Given the description of an element on the screen output the (x, y) to click on. 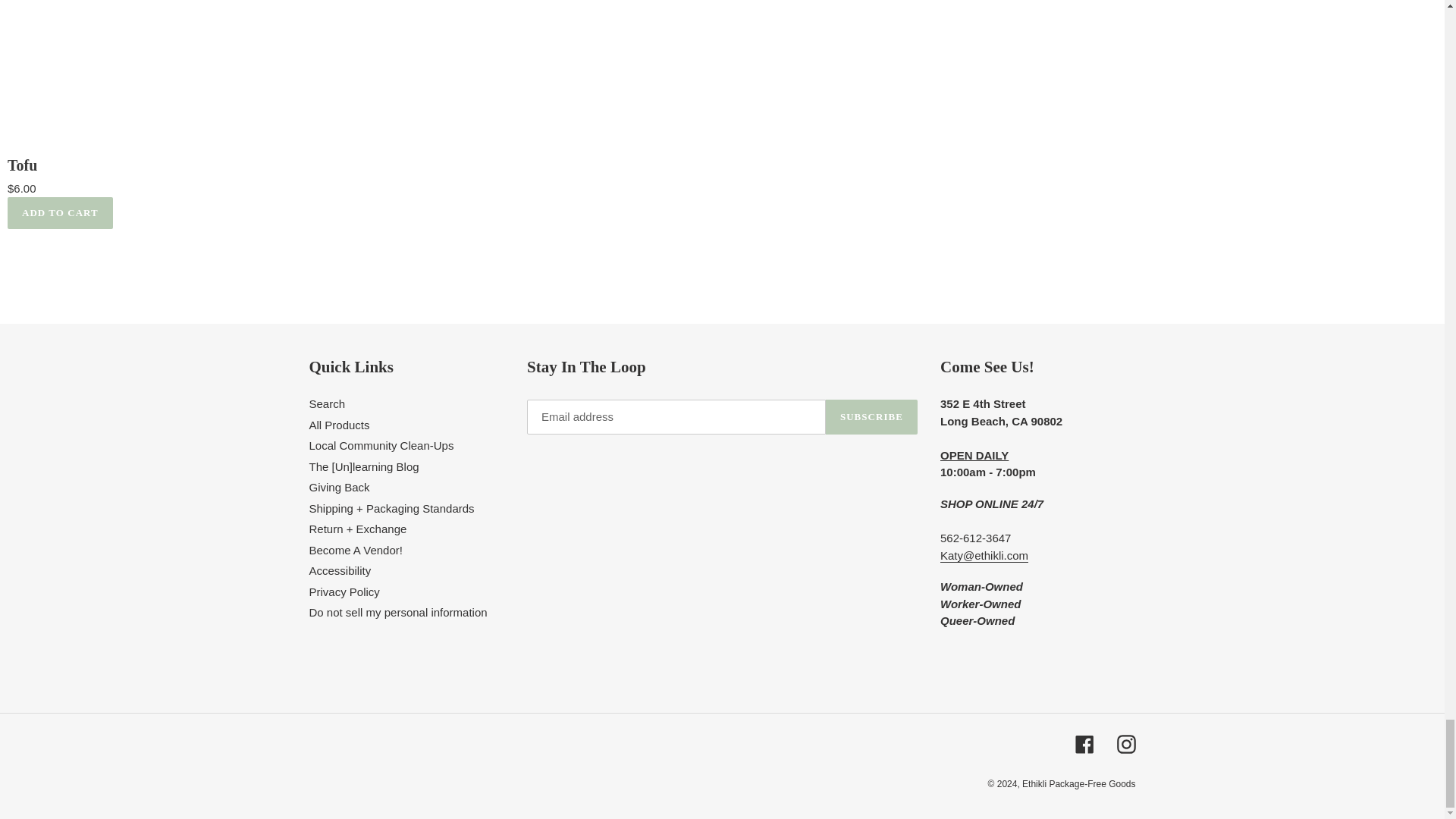
Contact Us (983, 555)
